Given the description of an element on the screen output the (x, y) to click on. 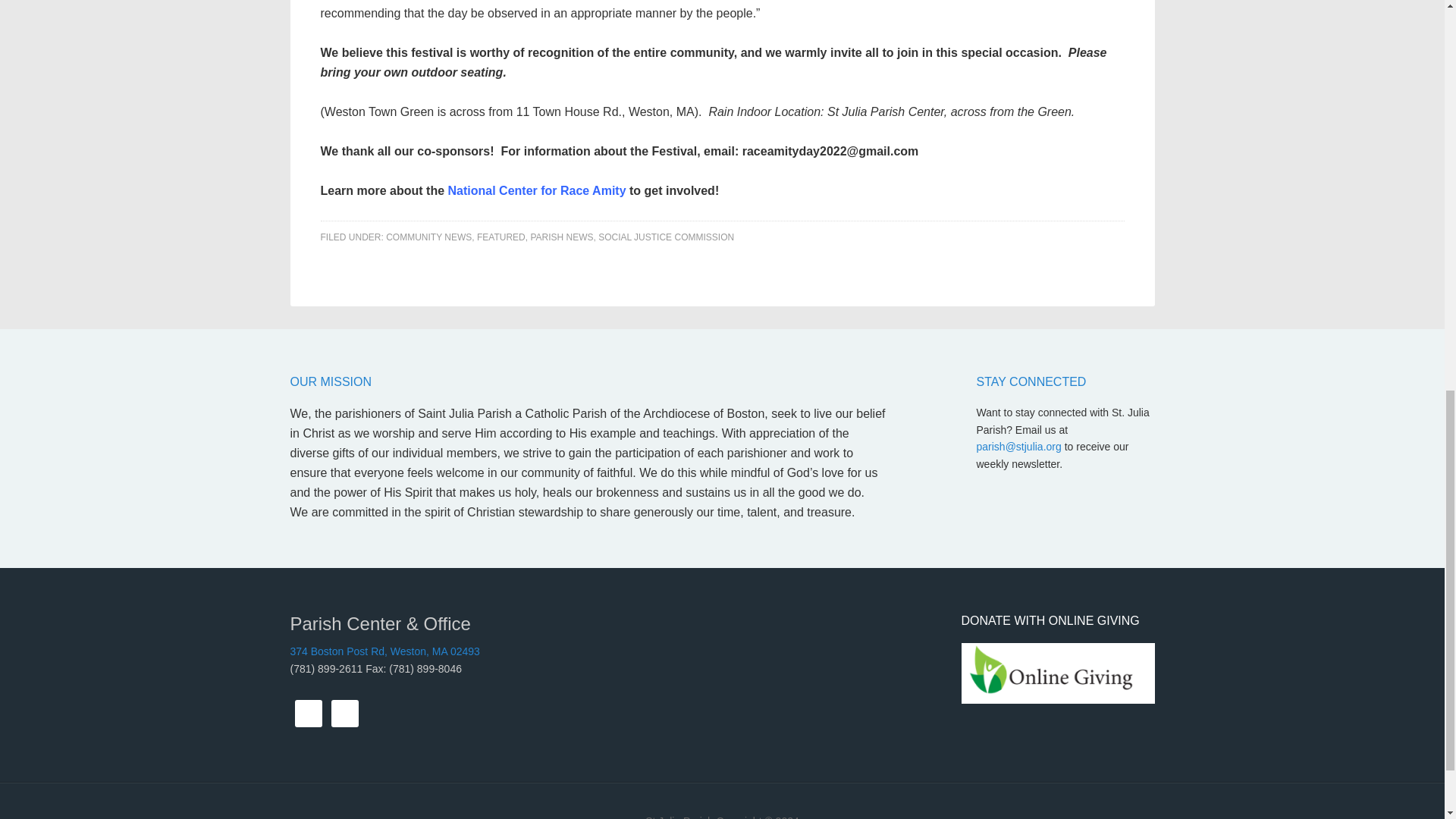
Page 1 (722, 11)
Page 1 (722, 11)
